Given the description of an element on the screen output the (x, y) to click on. 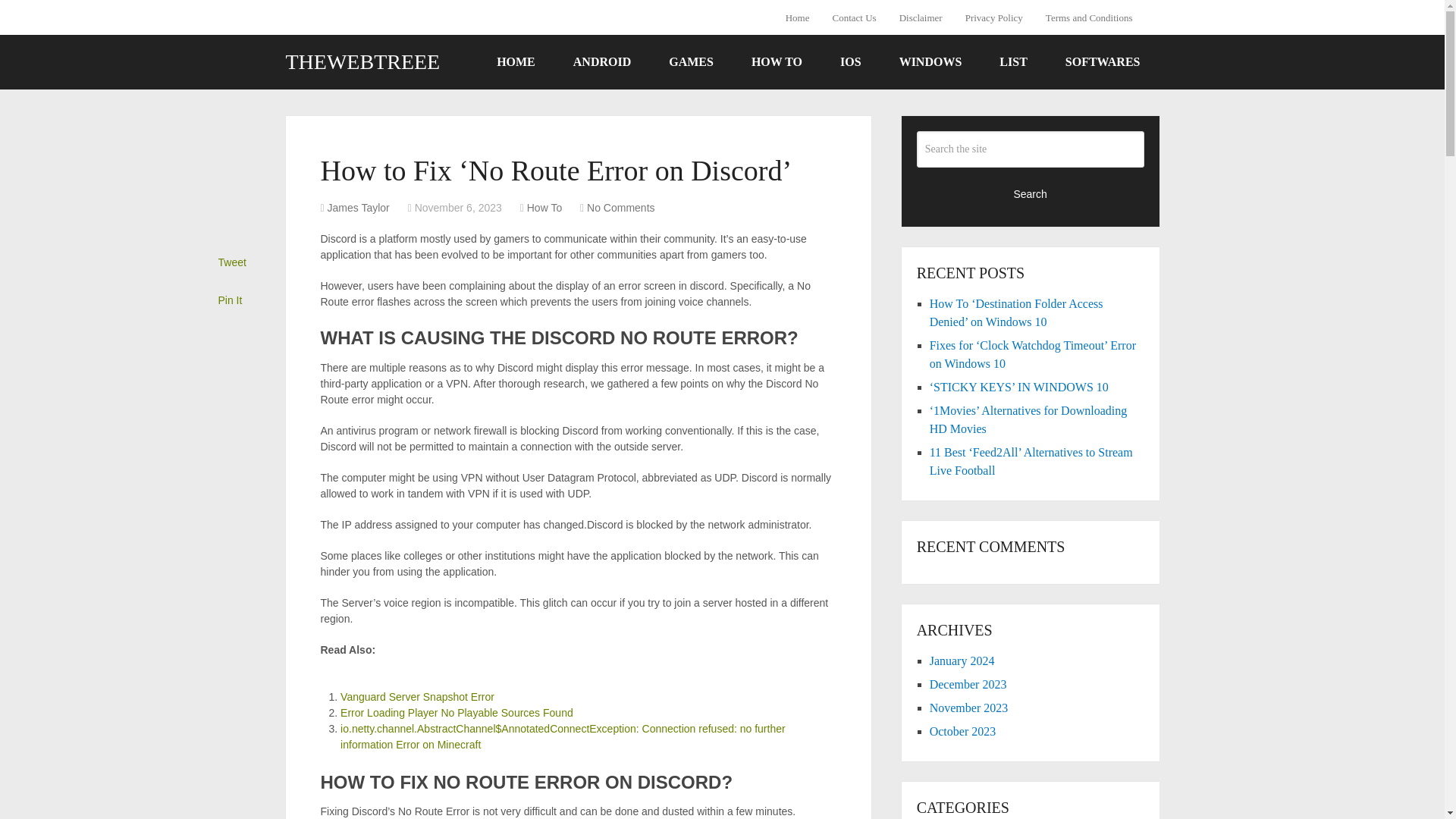
Pin It (230, 300)
GAMES (690, 62)
Error Loading Player No Playable Sources Found (456, 712)
ANDROID (601, 62)
How To (544, 207)
SOFTWARES (1102, 62)
THEWEBTREEE (362, 61)
Tweet (232, 262)
View all posts in How To (544, 207)
Privacy Policy (993, 17)
